Given the description of an element on the screen output the (x, y) to click on. 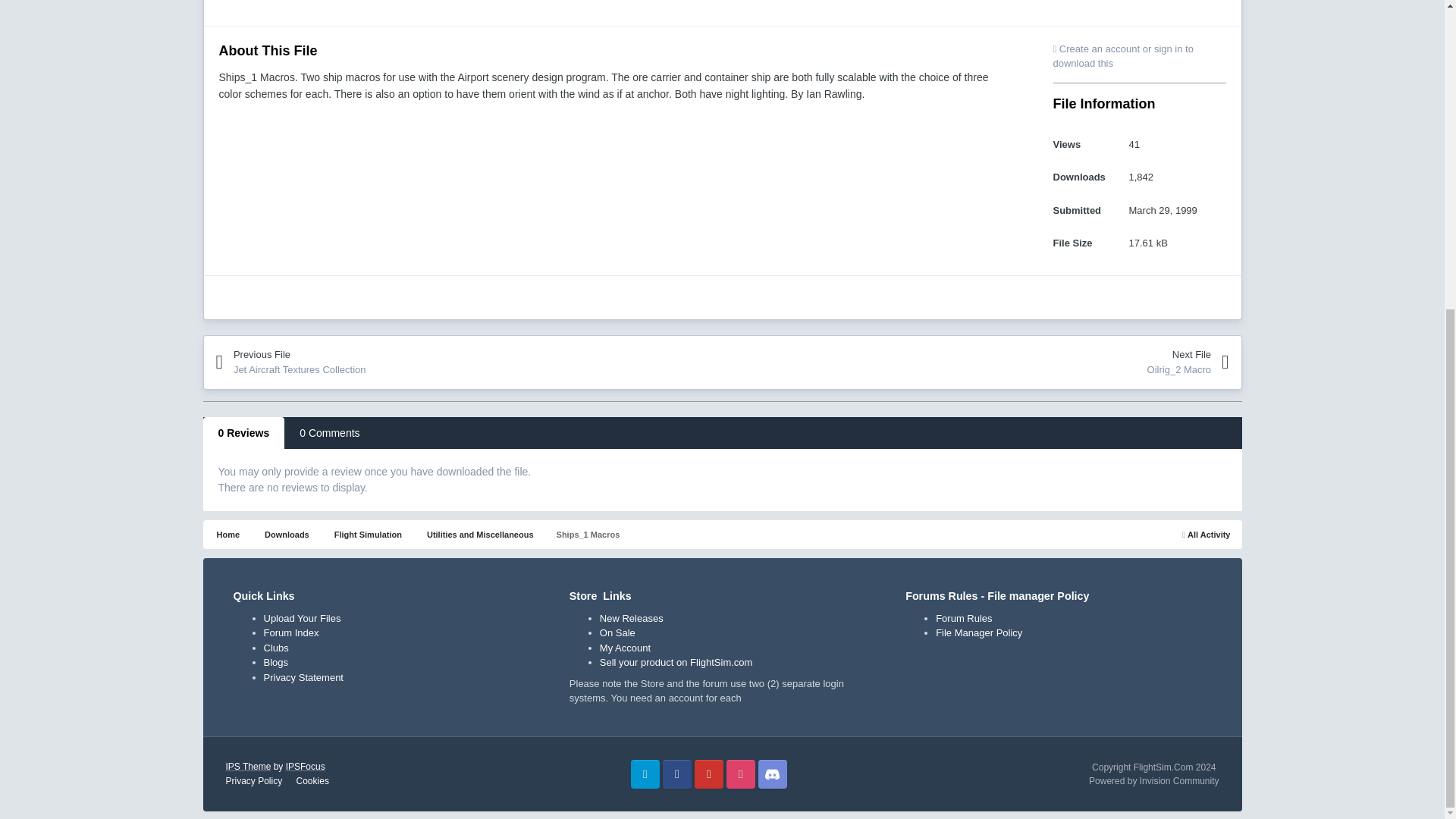
0 Reviews (244, 432)
Next File (1095, 362)
Previous File (347, 362)
